Given the description of an element on the screen output the (x, y) to click on. 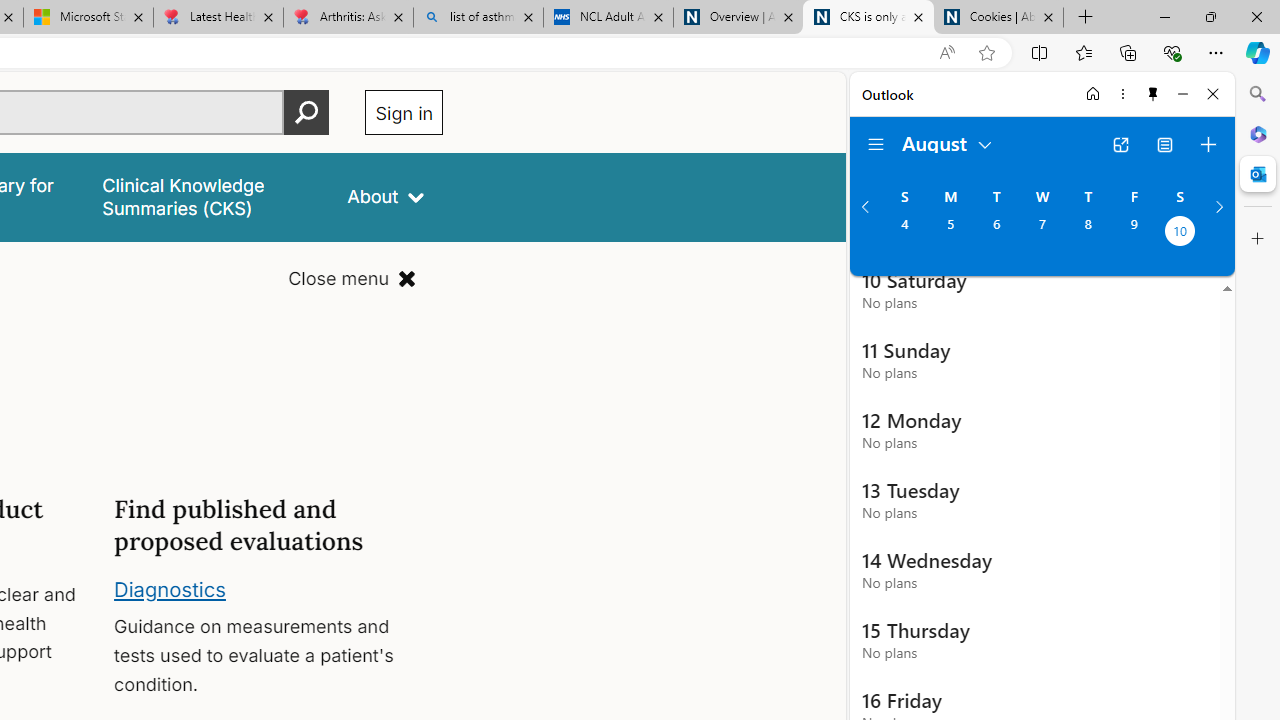
CKS is only available in the UK | NICE (868, 17)
Monday, August 5, 2024.  (950, 233)
Sunday, August 4, 2024.  (904, 233)
Friday, August 9, 2024.  (1134, 233)
false (207, 196)
